Given the description of an element on the screen output the (x, y) to click on. 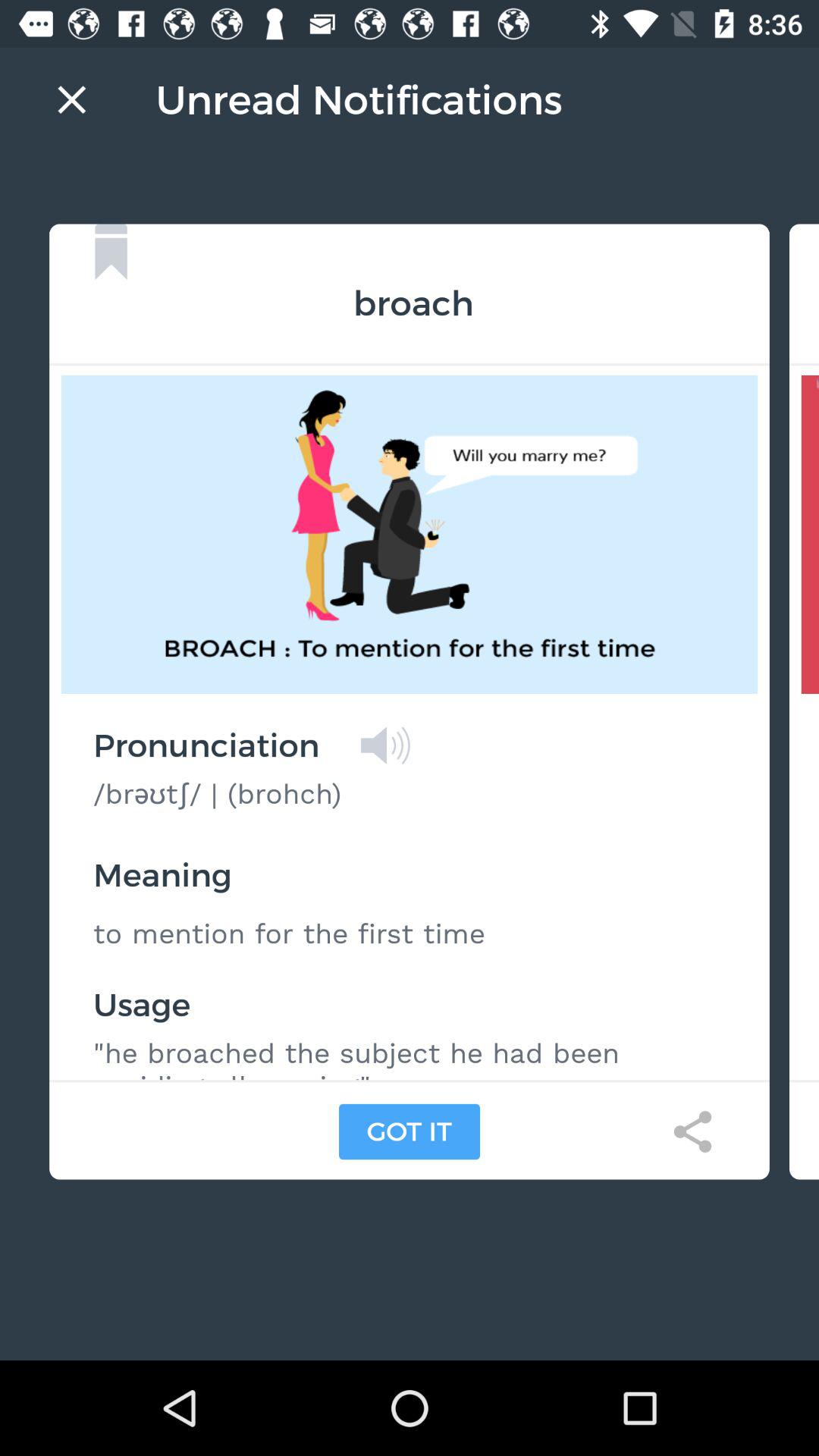
click on speaker option (385, 745)
